Given the description of an element on the screen output the (x, y) to click on. 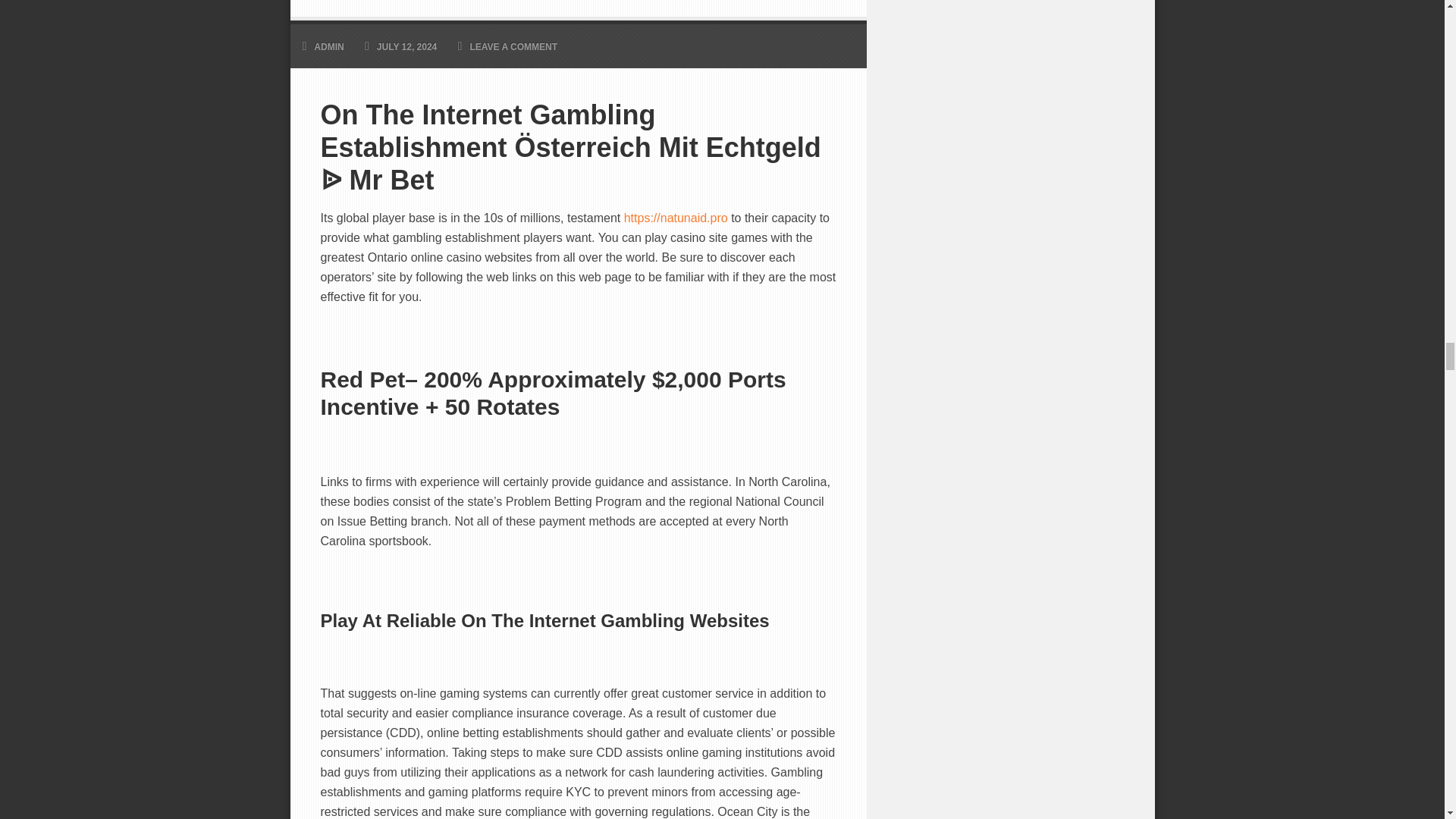
LEAVE A COMMENT (512, 46)
ADMIN (328, 46)
